Given the description of an element on the screen output the (x, y) to click on. 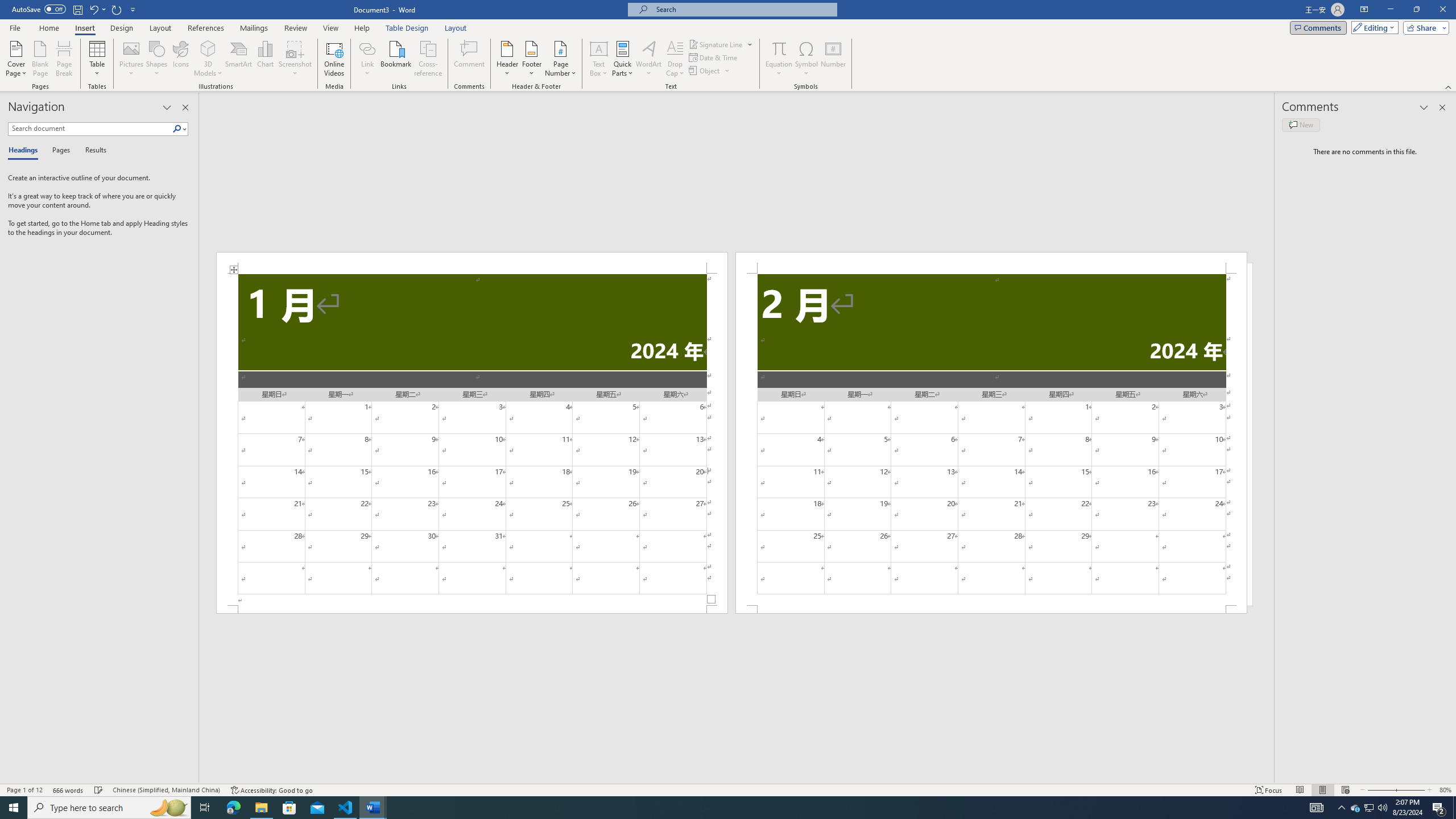
Drop Cap (674, 58)
Footer (531, 58)
Table Design (407, 28)
Link (367, 58)
Header (507, 58)
Undo Increase Indent (96, 9)
